Given the description of an element on the screen output the (x, y) to click on. 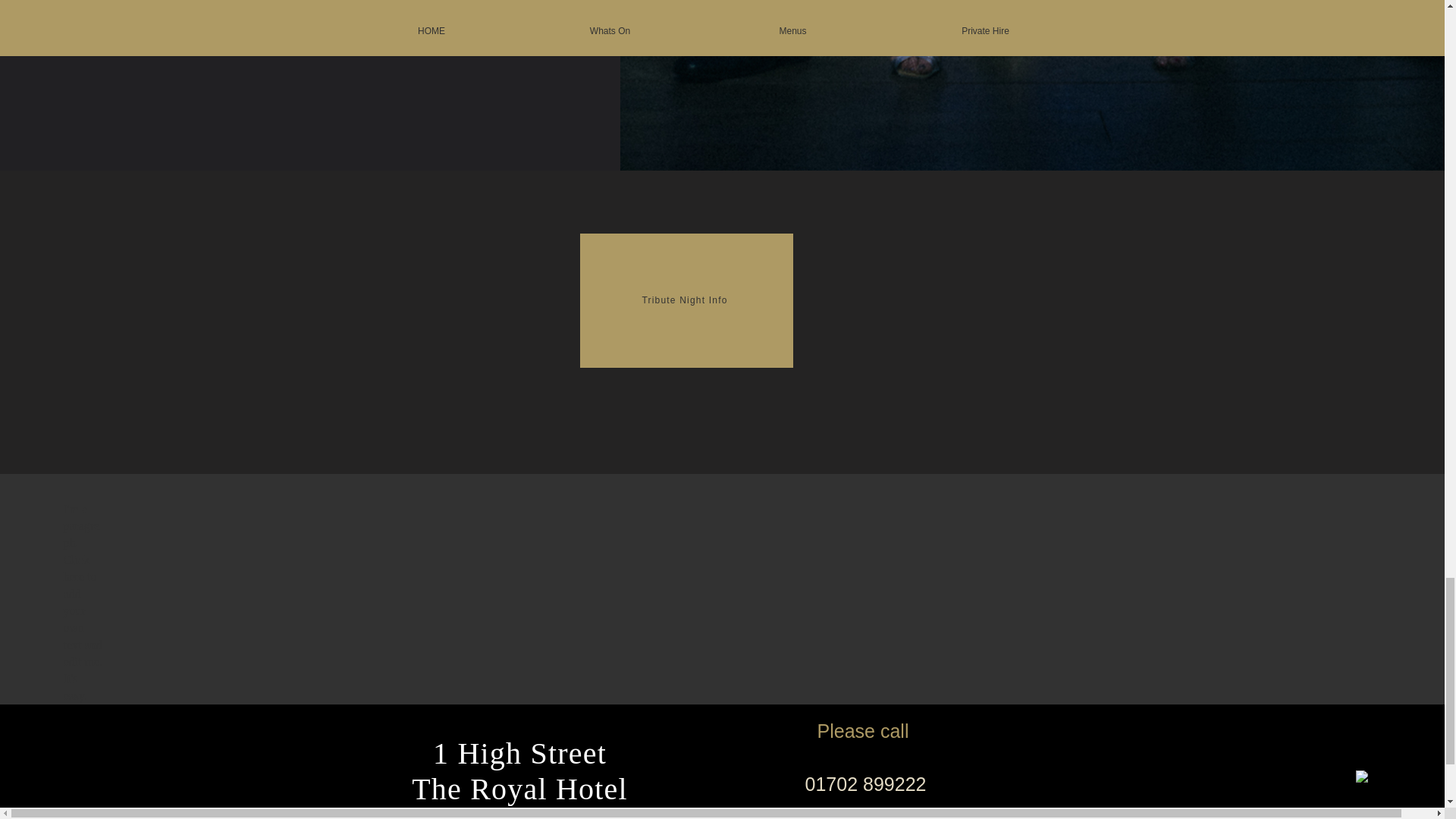
Tribute Night Info (685, 300)
